Given the description of an element on the screen output the (x, y) to click on. 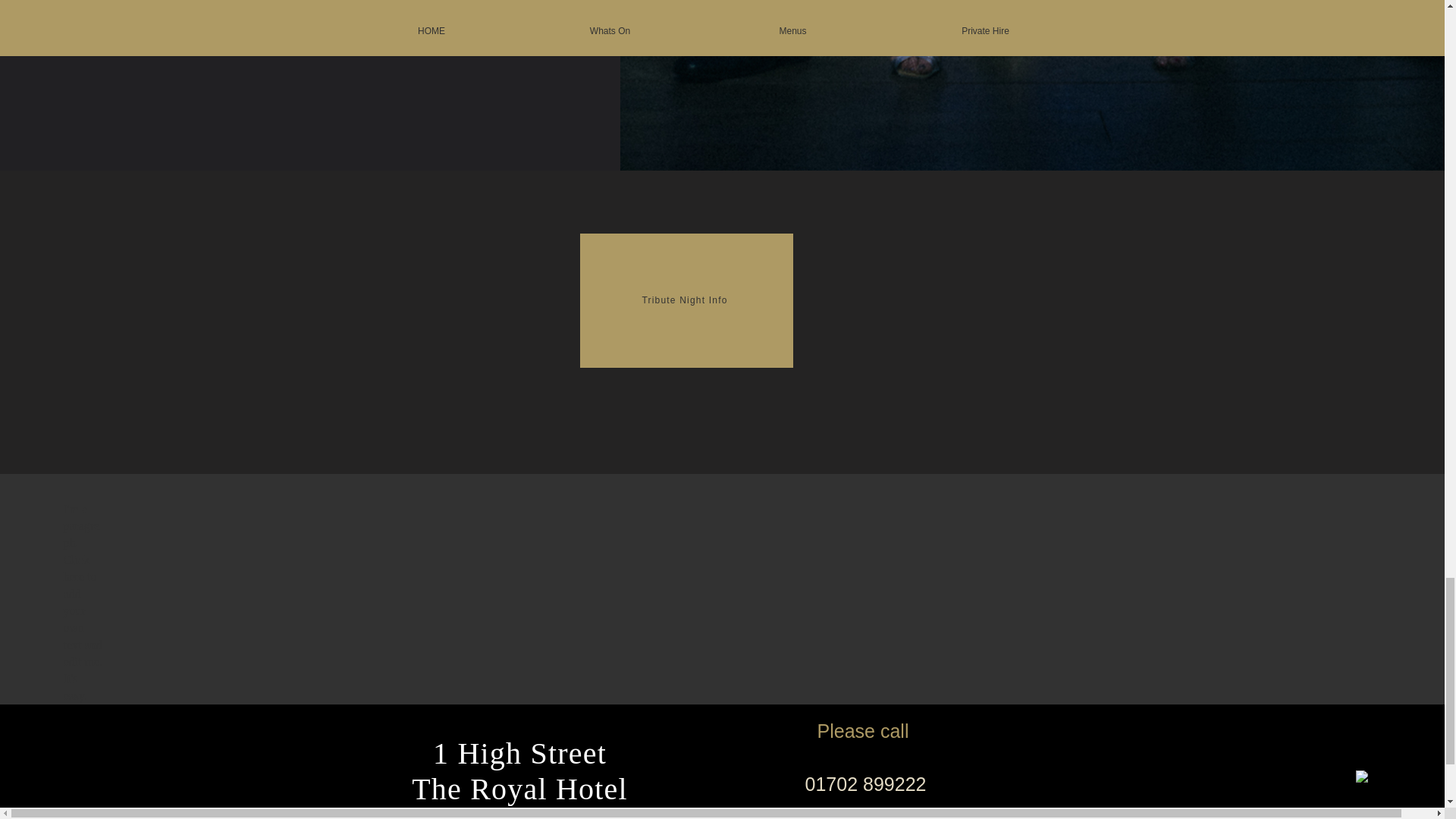
Tribute Night Info (685, 300)
